Given the description of an element on the screen output the (x, y) to click on. 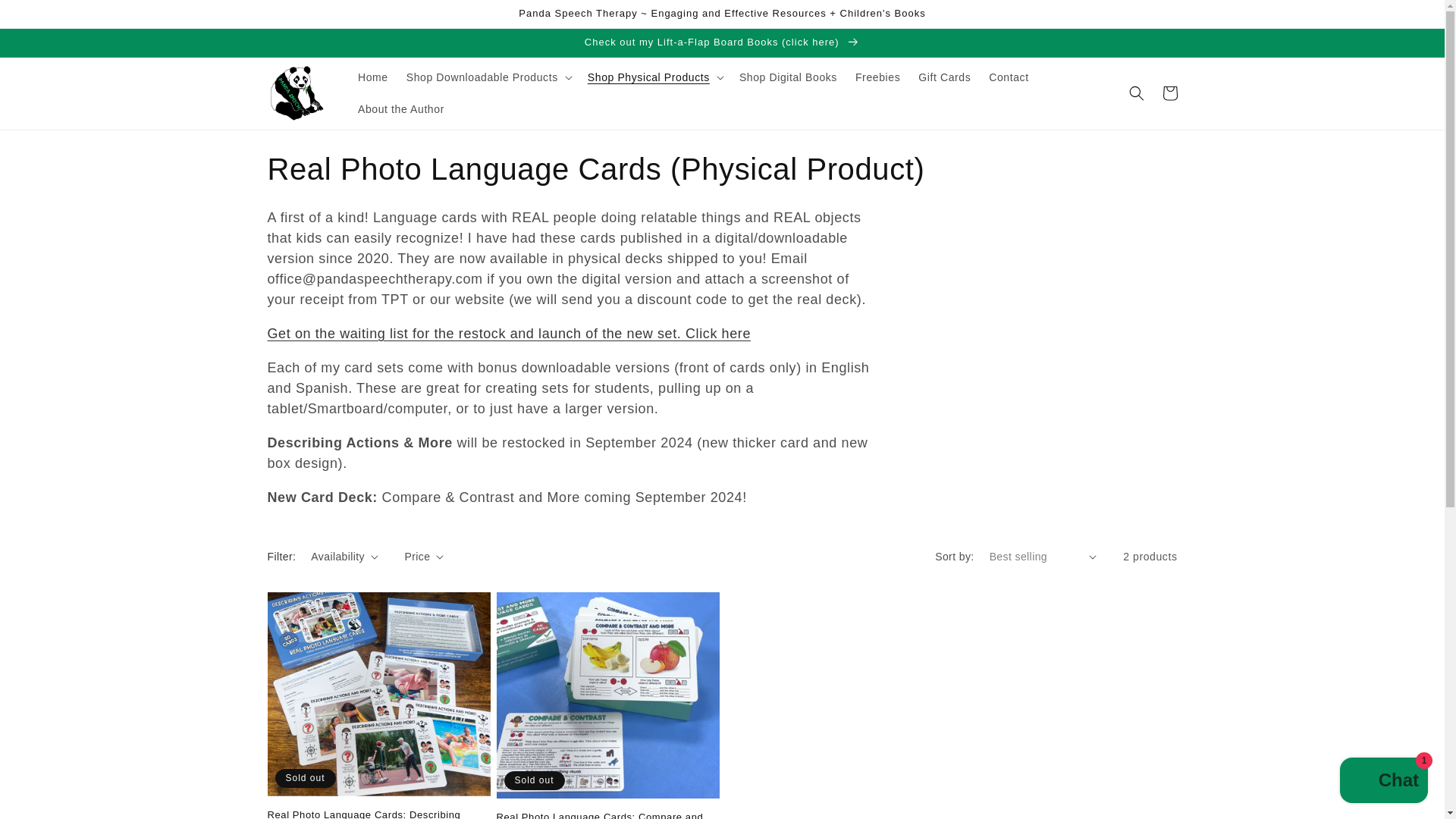
waiting list link (508, 333)
Skip to content (45, 17)
Shopify online store chat (1383, 781)
